Given the description of an element on the screen output the (x, y) to click on. 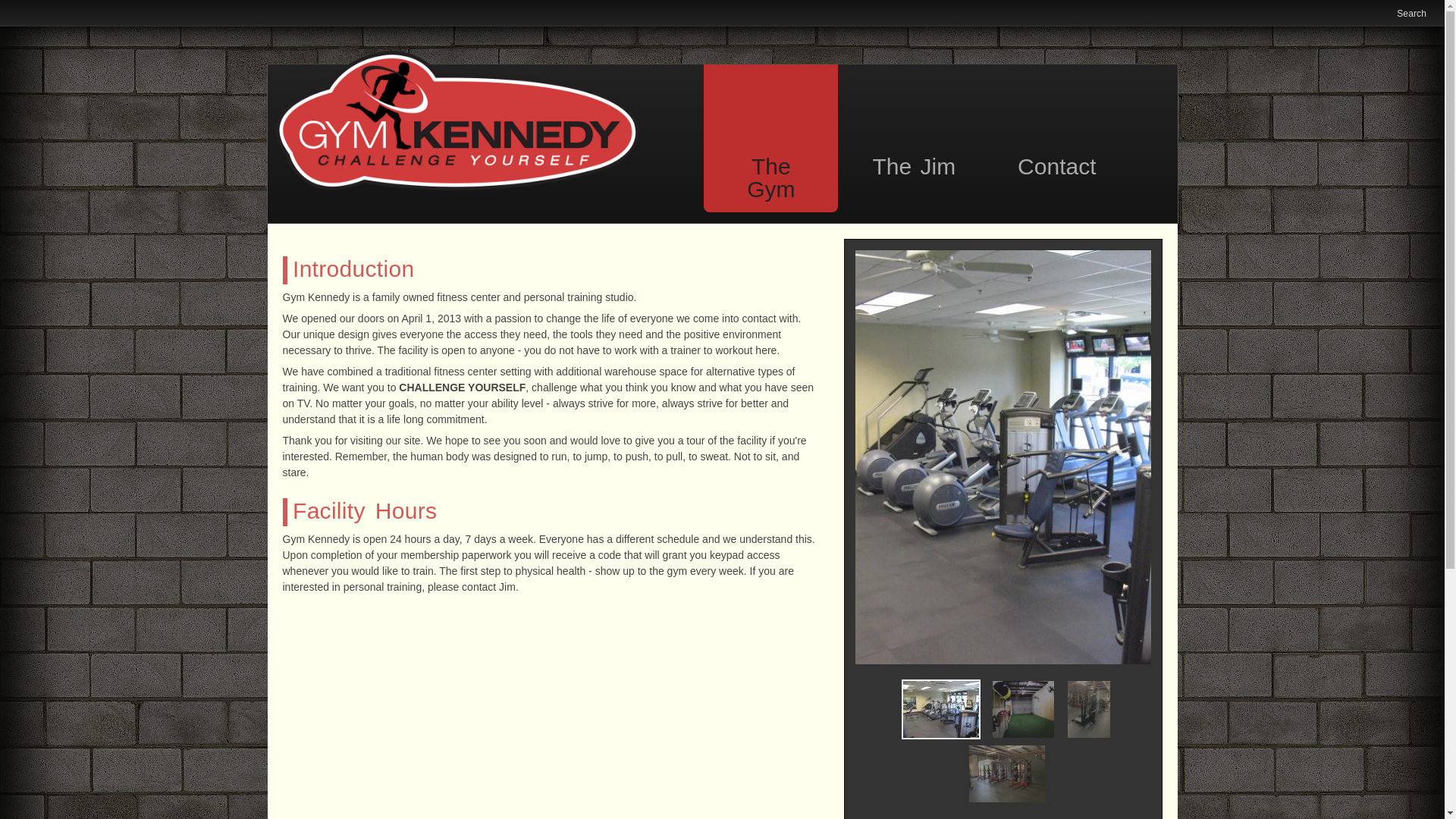
Upstairs Turf (1023, 709)
Contact (1057, 126)
Gym Kennedy (940, 709)
Gym Kennedy (457, 186)
3 - Double Racks (1007, 773)
